Given the description of an element on the screen output the (x, y) to click on. 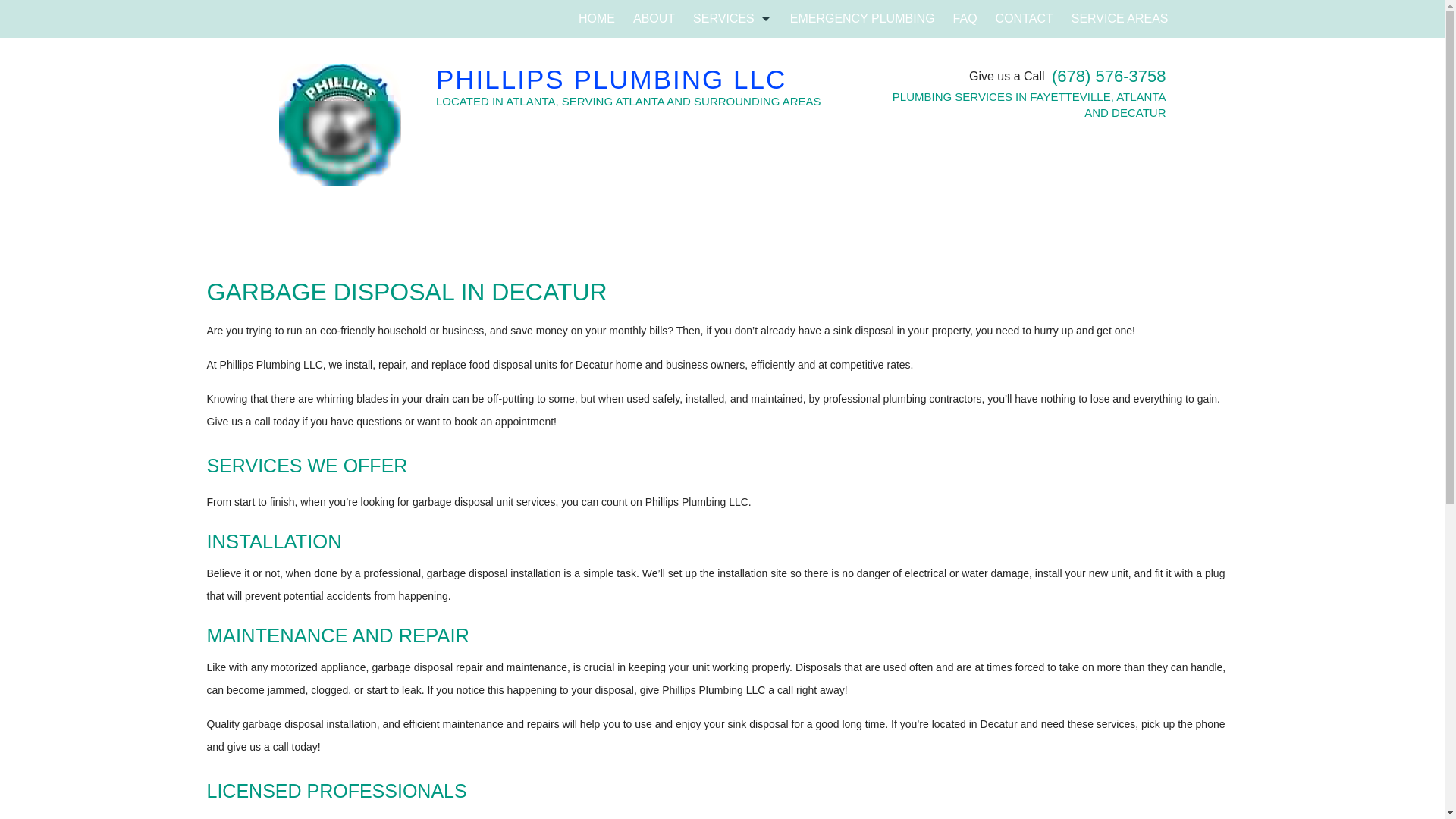
CLOGGED DRAIN (732, 56)
EMERGENCY PLUMBING (861, 18)
GARBAGE DISPOSAL REPAIR (732, 170)
TOILET REPAIR (732, 322)
SEWER SERVICE (732, 246)
PHILLIPS PLUMBING LLC (643, 79)
WATER HEATERS (732, 360)
FAQ (965, 18)
HOME (596, 18)
ABOUT (654, 18)
SUMP PUMP (732, 284)
SERVICE AREAS (1119, 18)
PLUMBING (732, 208)
SERVICES (732, 18)
DRAIN CAMERA INSPECTION (732, 94)
